Given the description of an element on the screen output the (x, y) to click on. 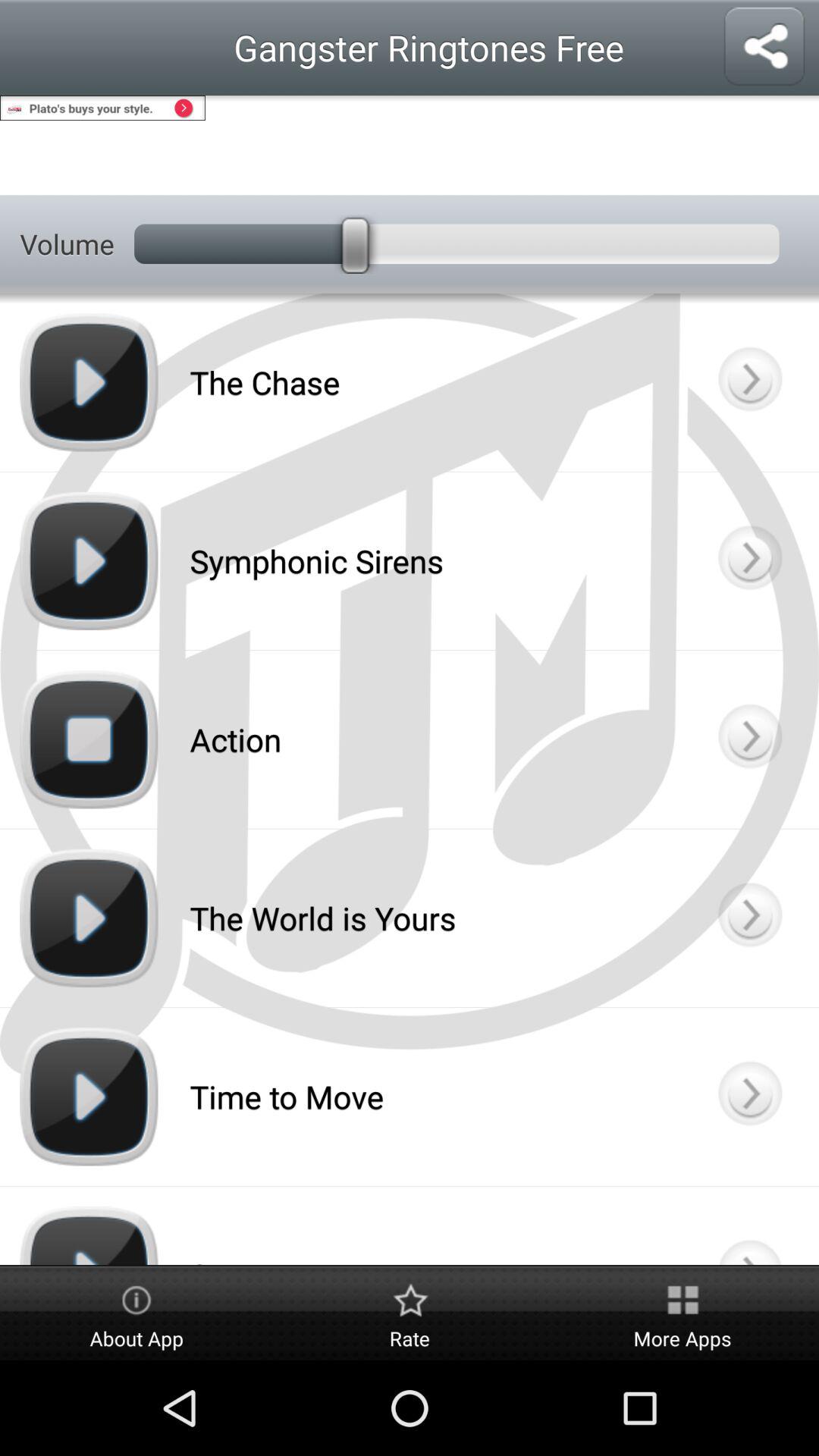
more info (749, 918)
